Given the description of an element on the screen output the (x, y) to click on. 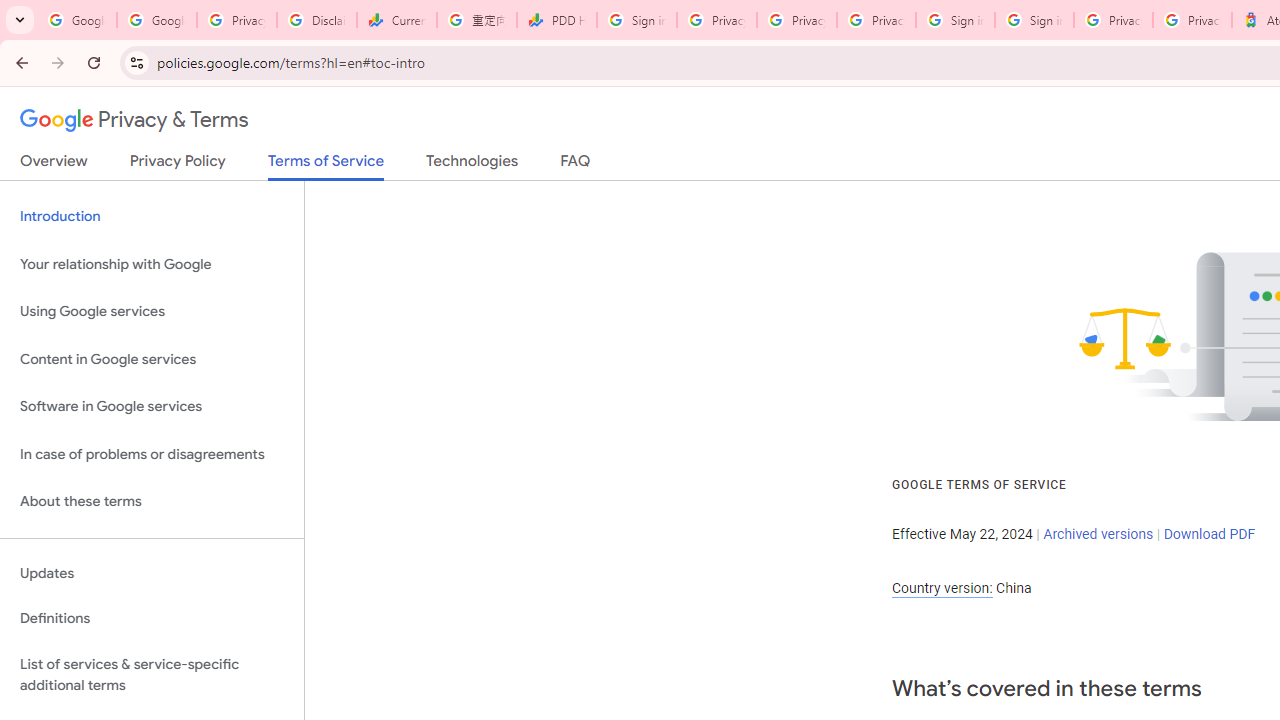
Archived versions (1098, 533)
Country version: (942, 588)
List of services & service-specific additional terms (152, 674)
Download PDF (1209, 533)
Definitions (152, 619)
Google Workspace Admin Community (76, 20)
Privacy Checkup (796, 20)
Software in Google services (152, 407)
